Given the description of an element on the screen output the (x, y) to click on. 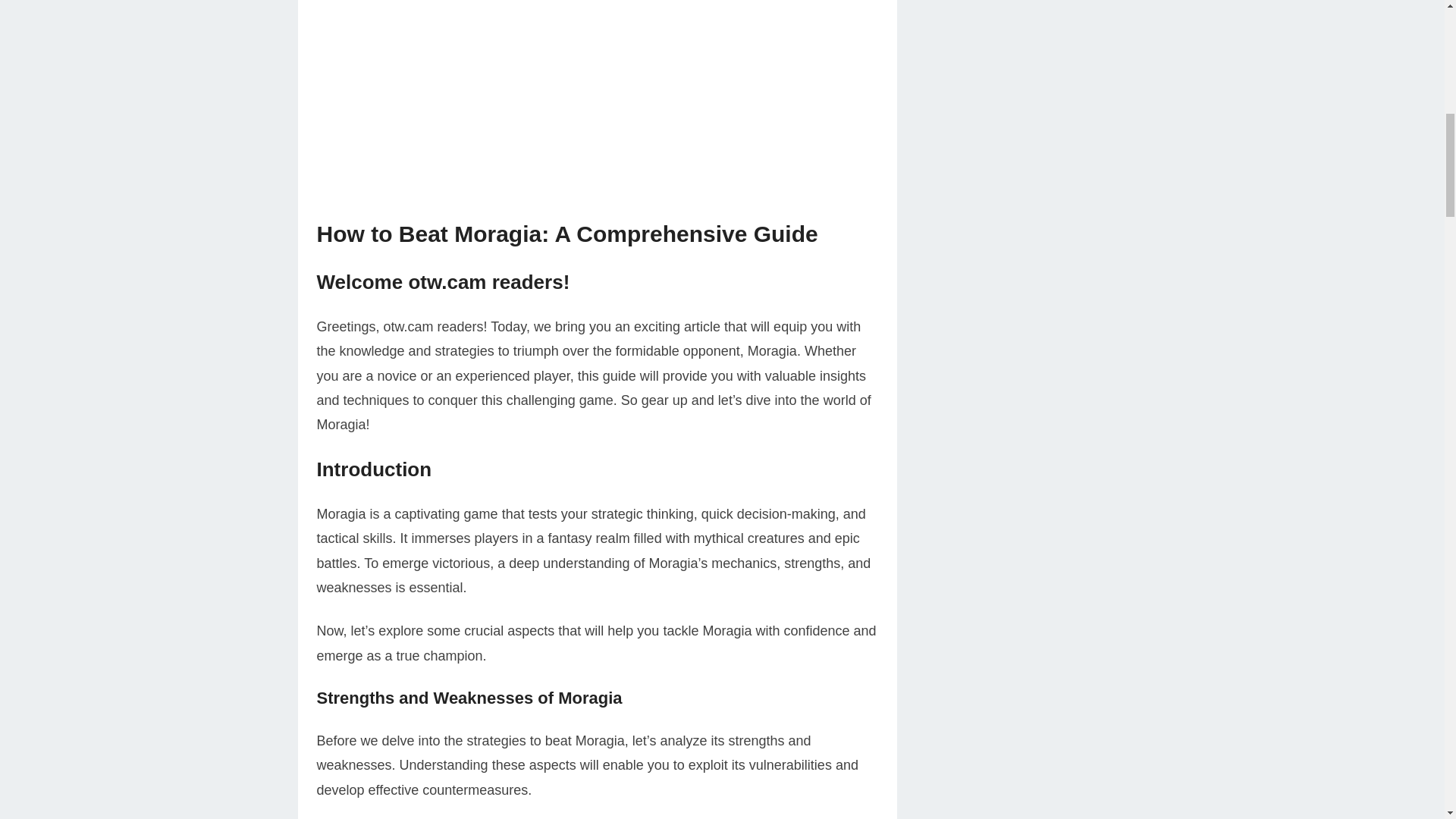
Advertisement (597, 112)
